Given the description of an element on the screen output the (x, y) to click on. 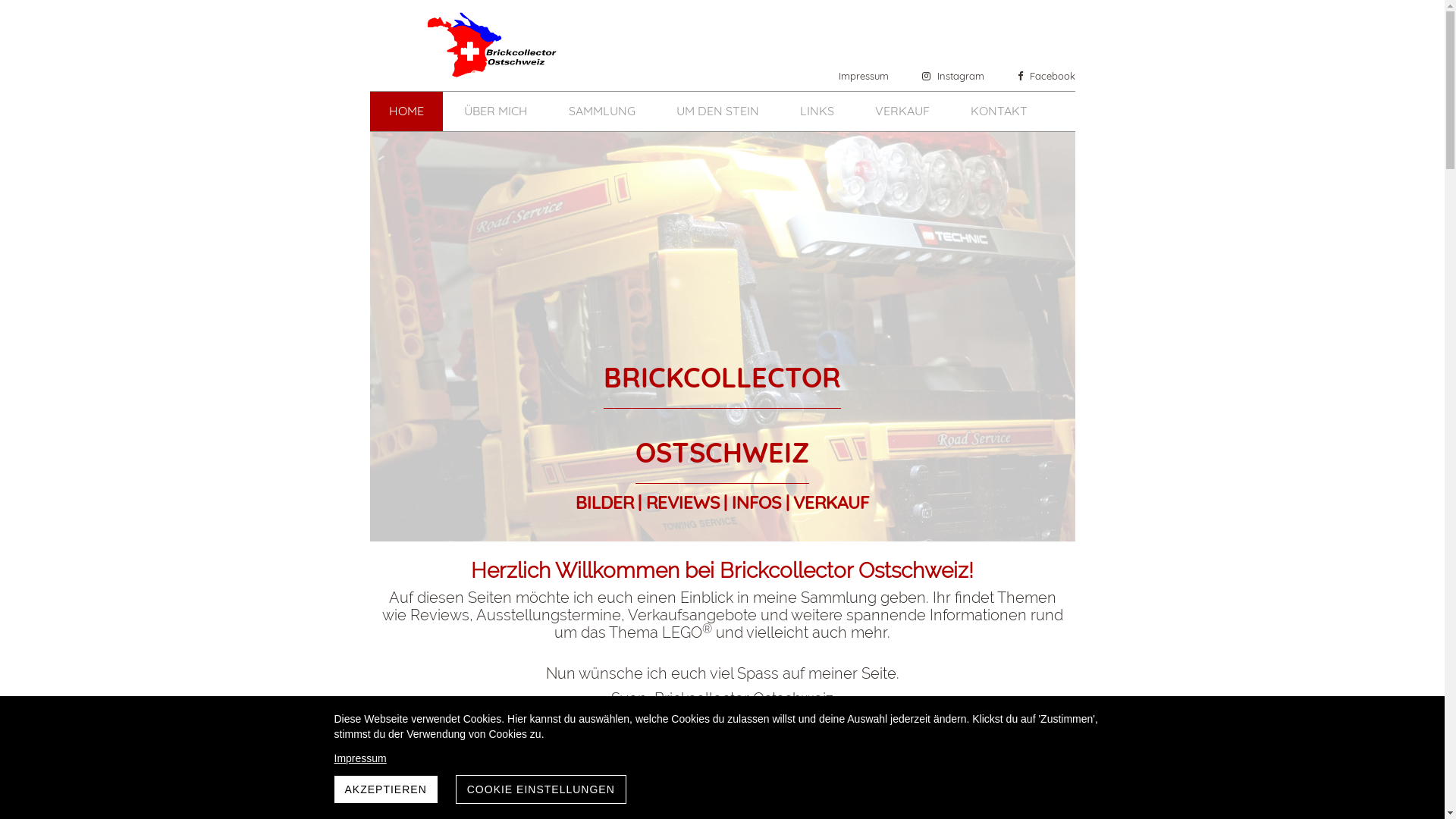
AKZEPTIEREN Element type: text (384, 789)
HOME Element type: text (406, 111)
Impressum Element type: text (855, 76)
KONTAKT Element type: text (998, 111)
Facebook Element type: text (1038, 76)
COOKIE EINSTELLUNGEN Element type: text (540, 789)
VERKAUF Element type: text (902, 111)
Instagram Element type: text (945, 76)
UM DEN STEIN Element type: text (717, 111)
SAMMLUNG Element type: text (601, 111)
LINKS Element type: text (817, 111)
Impressum Element type: text (721, 757)
